Given the description of an element on the screen output the (x, y) to click on. 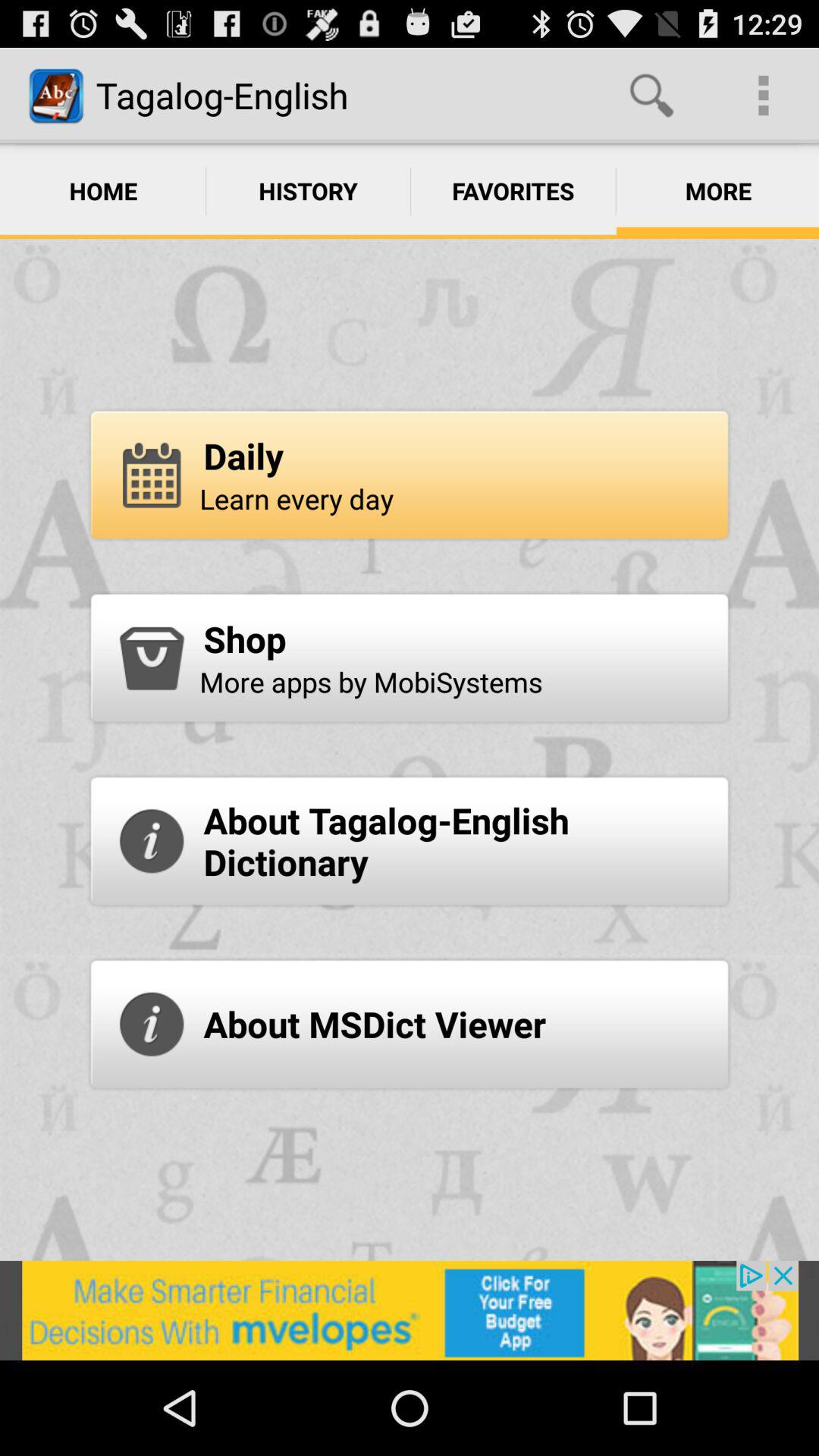
advertising (409, 1310)
